Given the description of an element on the screen output the (x, y) to click on. 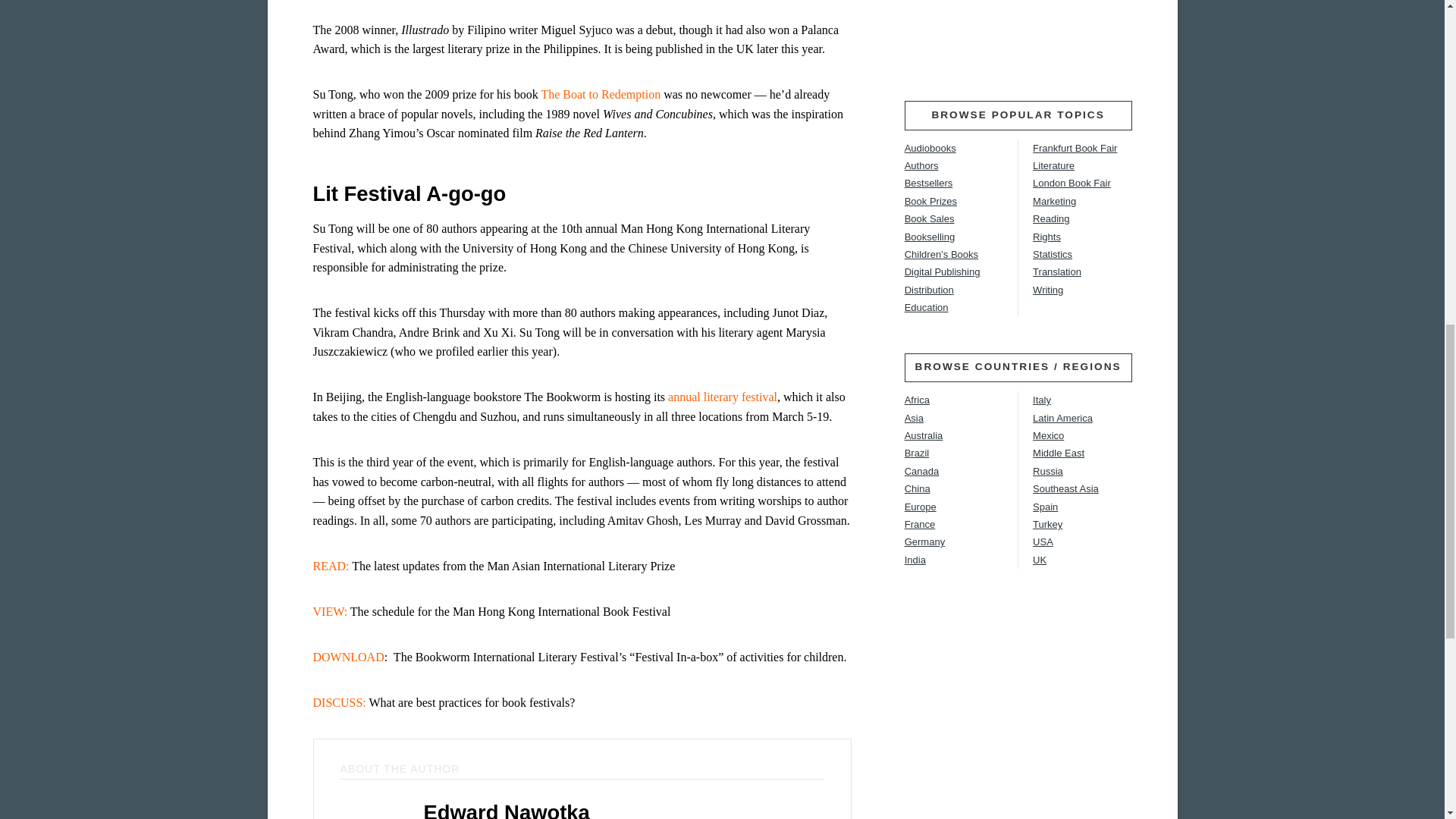
The Boat to Redemption (600, 93)
annual literary festival (722, 396)
VIEW: (330, 611)
READ: (332, 565)
DOWNLOAD (348, 656)
DISCUSS: (339, 702)
